Given the description of an element on the screen output the (x, y) to click on. 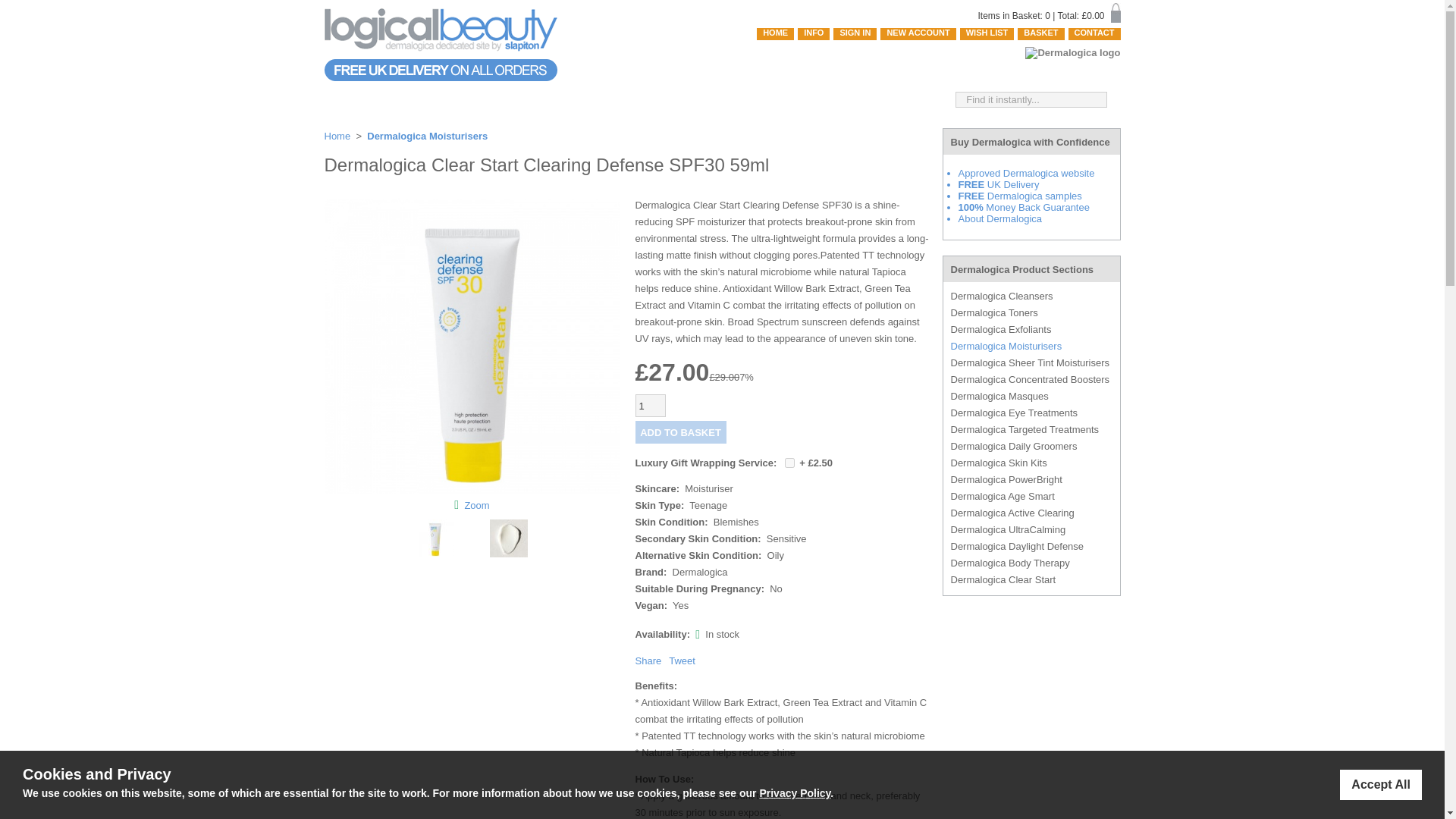
Dermalogica Clear Start Clearing Defense SPF30 59ml (472, 490)
Dermalogica Sheer Tint Moisturisers (1031, 362)
About Dermalogica (1000, 218)
Dermalogica Cleansers (1031, 295)
1 (649, 404)
Dermalogica Clear Start Clearing Defense SPF30 59ml (476, 504)
Dermalogica Masques (1031, 395)
Zoom (476, 504)
Dermalogica Targeted Treatments (1031, 428)
Zoom (472, 346)
